Given the description of an element on the screen output the (x, y) to click on. 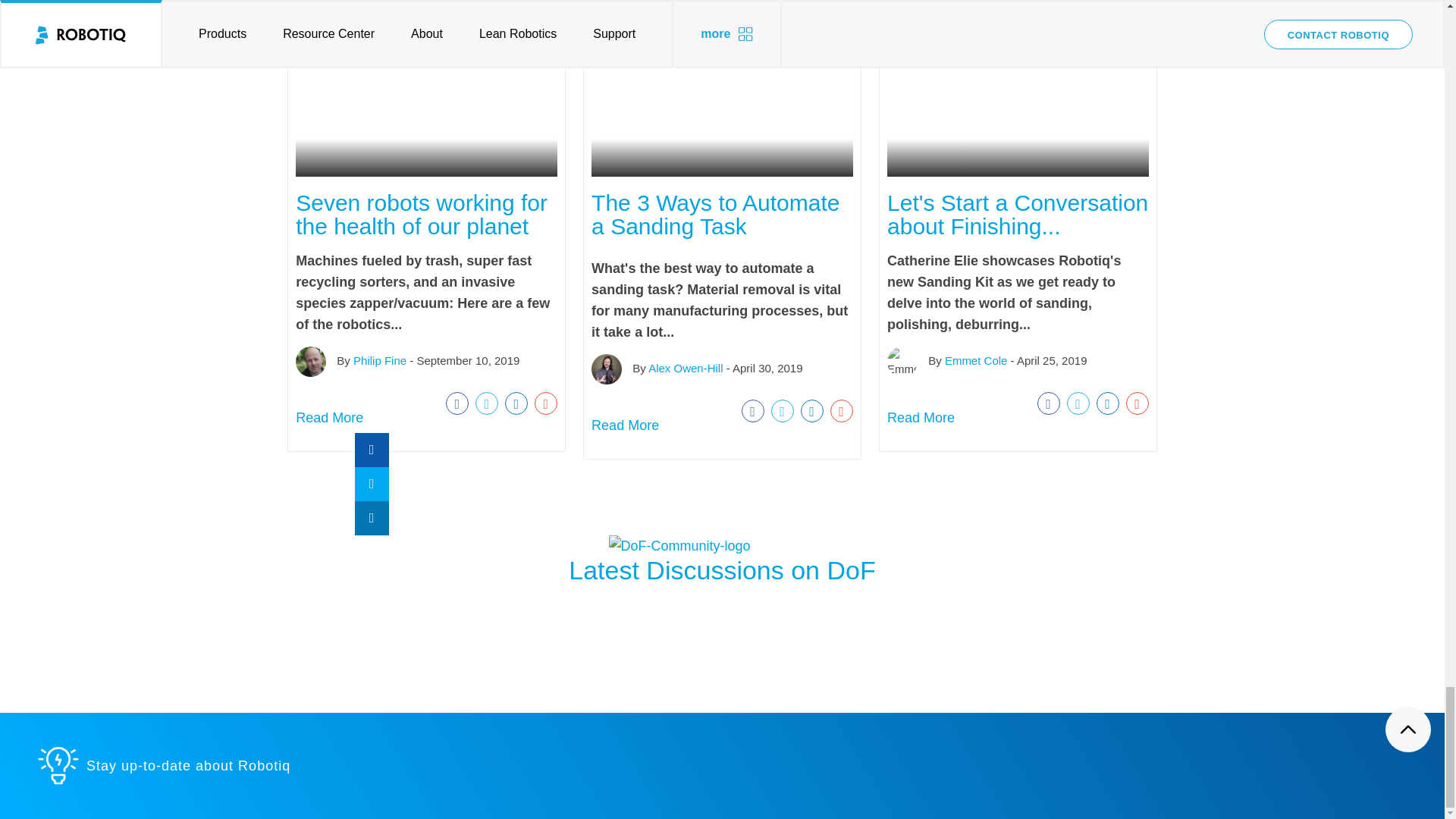
Share on LinkedIn (812, 410)
Tweet (1078, 403)
Share on LinkedIn (516, 403)
Tweet (782, 410)
Share on Facebook (1047, 403)
Share on Facebook (752, 410)
Share on LinkedIn (1107, 403)
Share on Facebook (456, 403)
Tweet (486, 403)
